Given the description of an element on the screen output the (x, y) to click on. 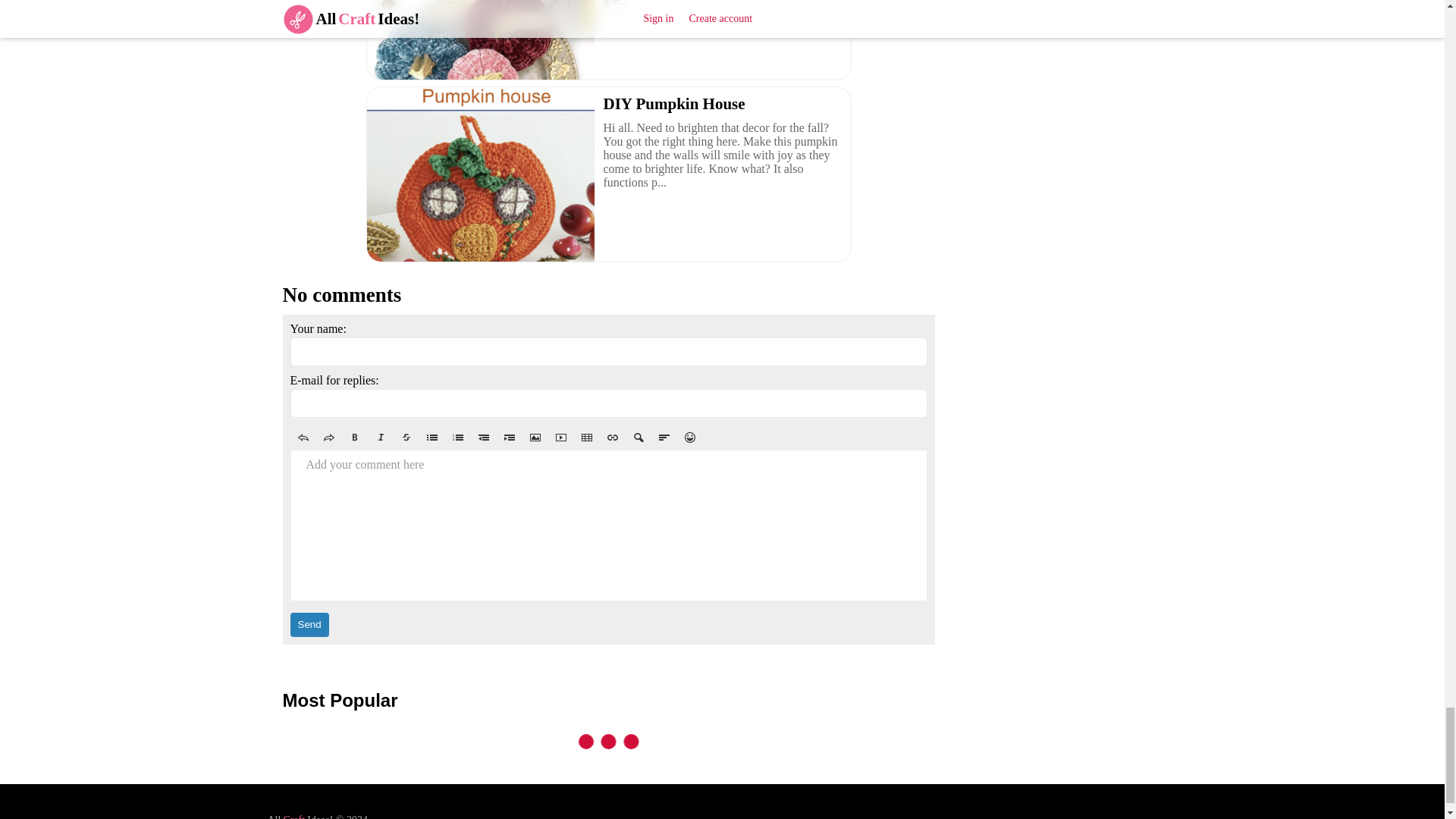
Insert Image (534, 437)
Deleted (406, 437)
Bold (353, 437)
Send (309, 624)
Table (585, 437)
Undo (302, 437)
Redo (327, 437)
Link (611, 437)
Insert Video (560, 437)
Italic (379, 437)
